Given the description of an element on the screen output the (x, y) to click on. 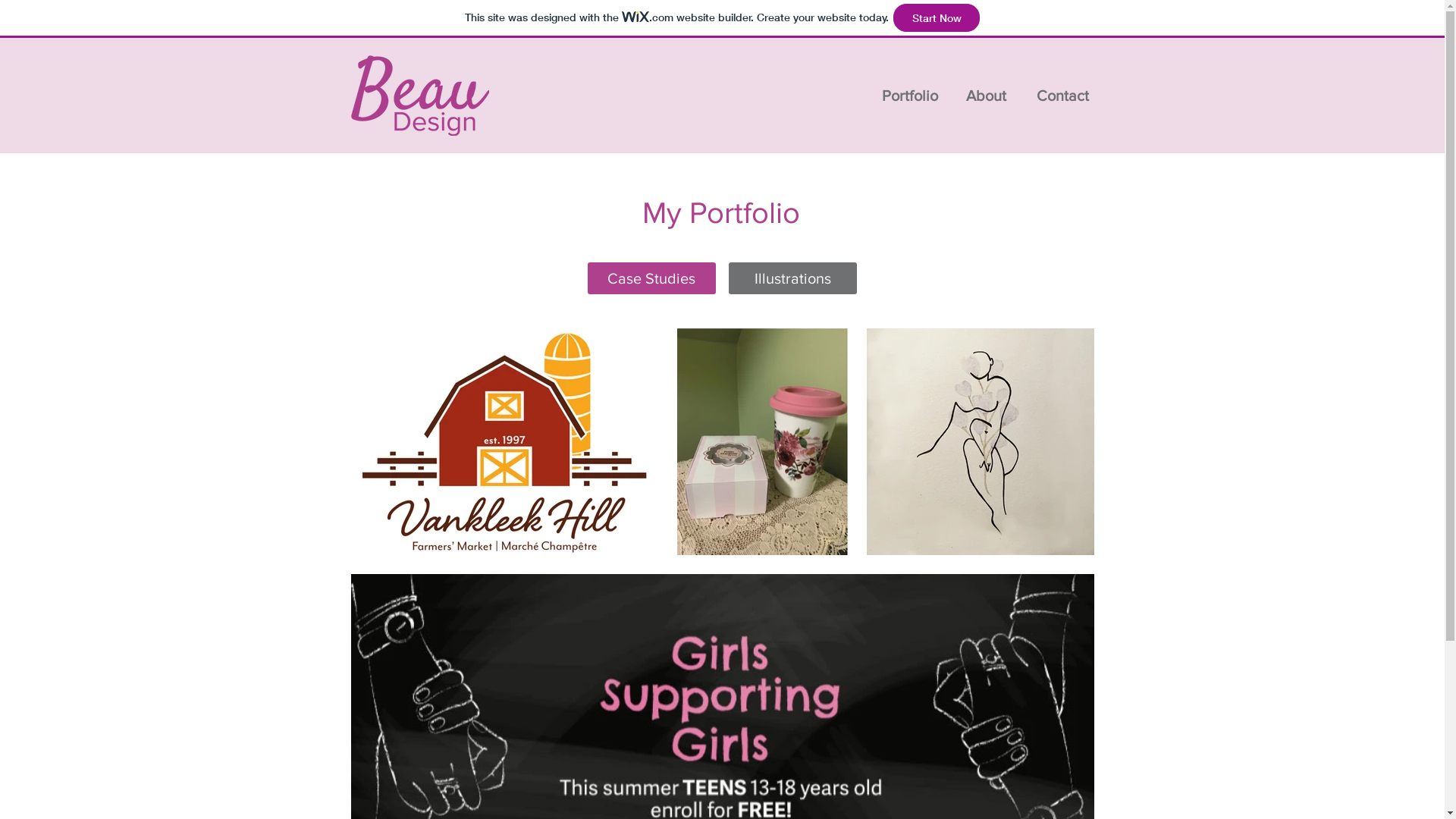
Illustrations Element type: text (792, 278)
Contact Element type: text (1062, 95)
About Element type: text (985, 95)
Portfolio Element type: text (909, 95)
Case Studies Element type: text (650, 278)
